Given the description of an element on the screen output the (x, y) to click on. 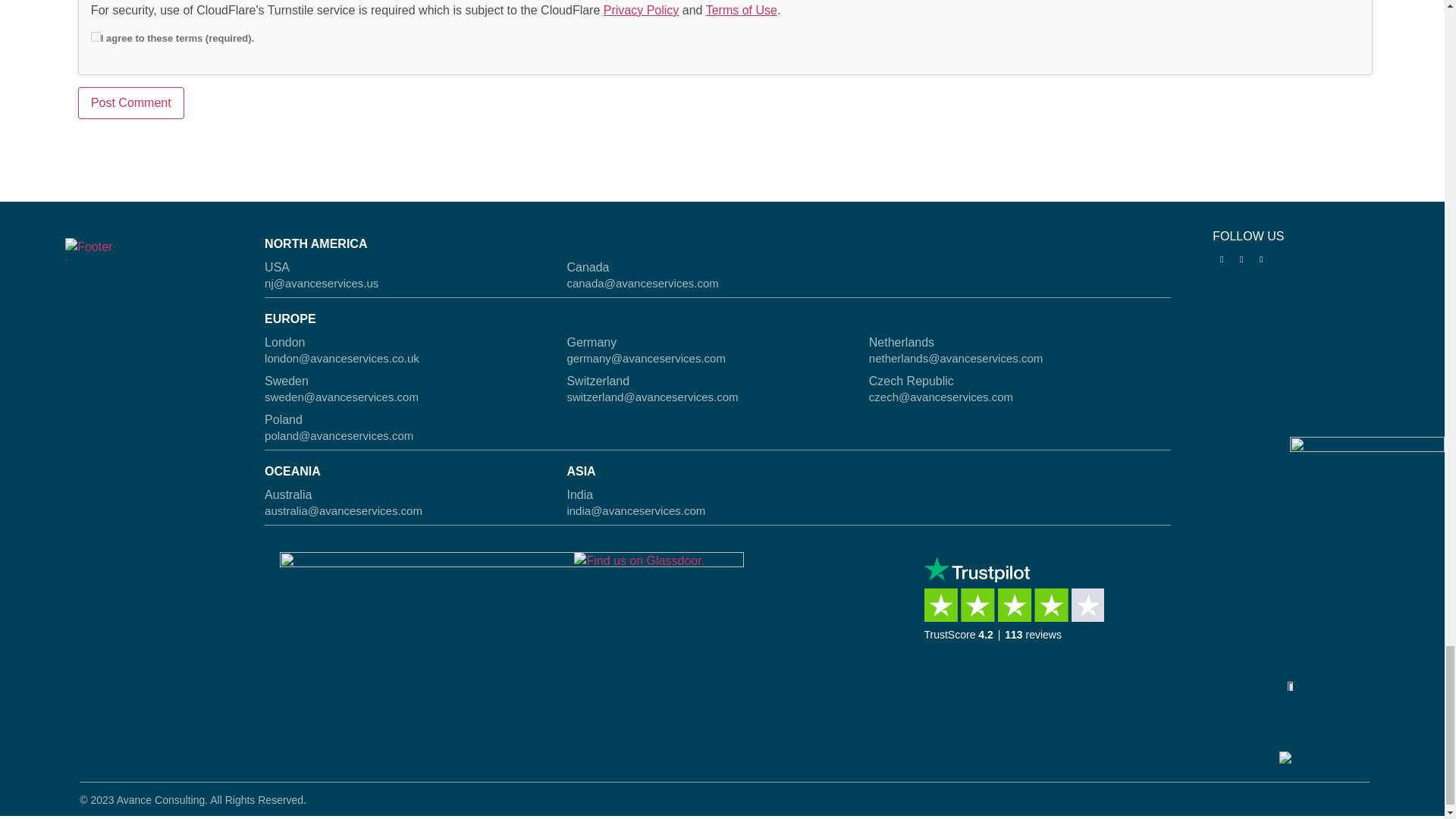
Post Comment (131, 102)
Customer reviews powered by Trustpilot (1019, 612)
on (95, 36)
